Given the description of an element on the screen output the (x, y) to click on. 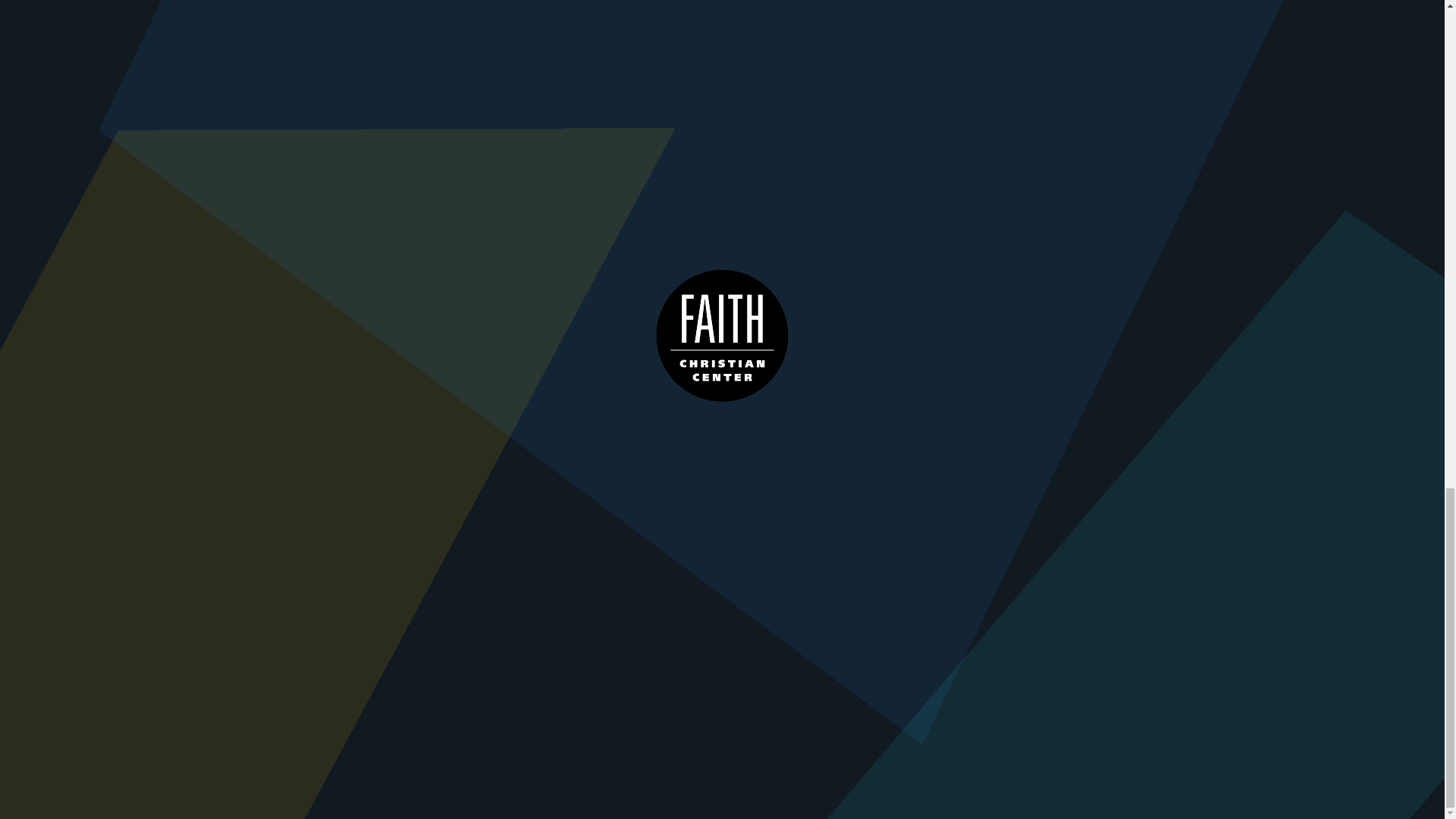
Vimeo (1085, 416)
Twitter (999, 416)
Instagram (1127, 416)
Email Address (1010, 719)
submit (1106, 719)
Faith Christian Center (467, 433)
Facebook (957, 416)
YouTube (1042, 416)
